Given the description of an element on the screen output the (x, y) to click on. 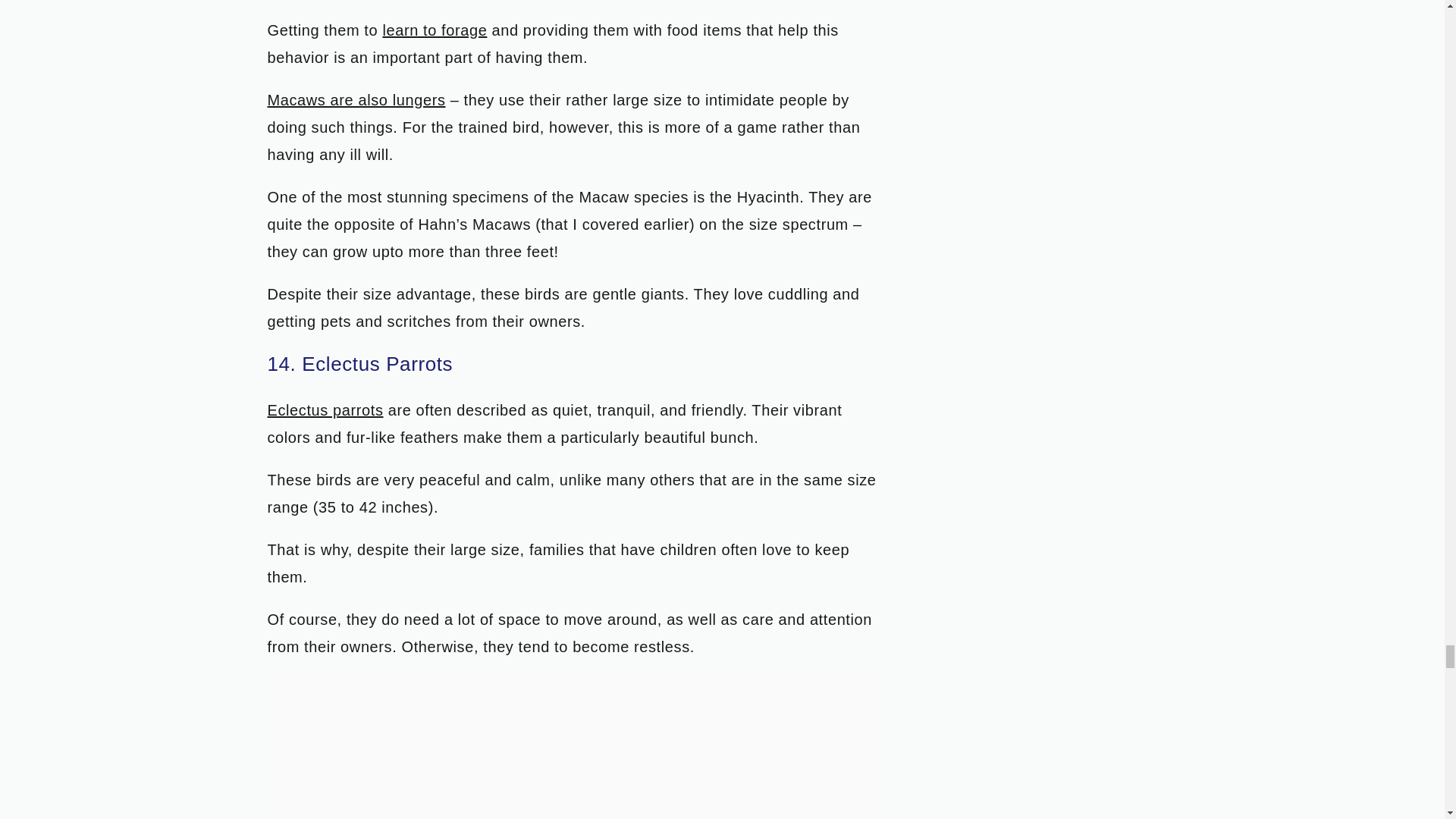
Eclectus parrots (324, 410)
learn to forage (433, 30)
Macaws are also lungers (355, 99)
